Given the description of an element on the screen output the (x, y) to click on. 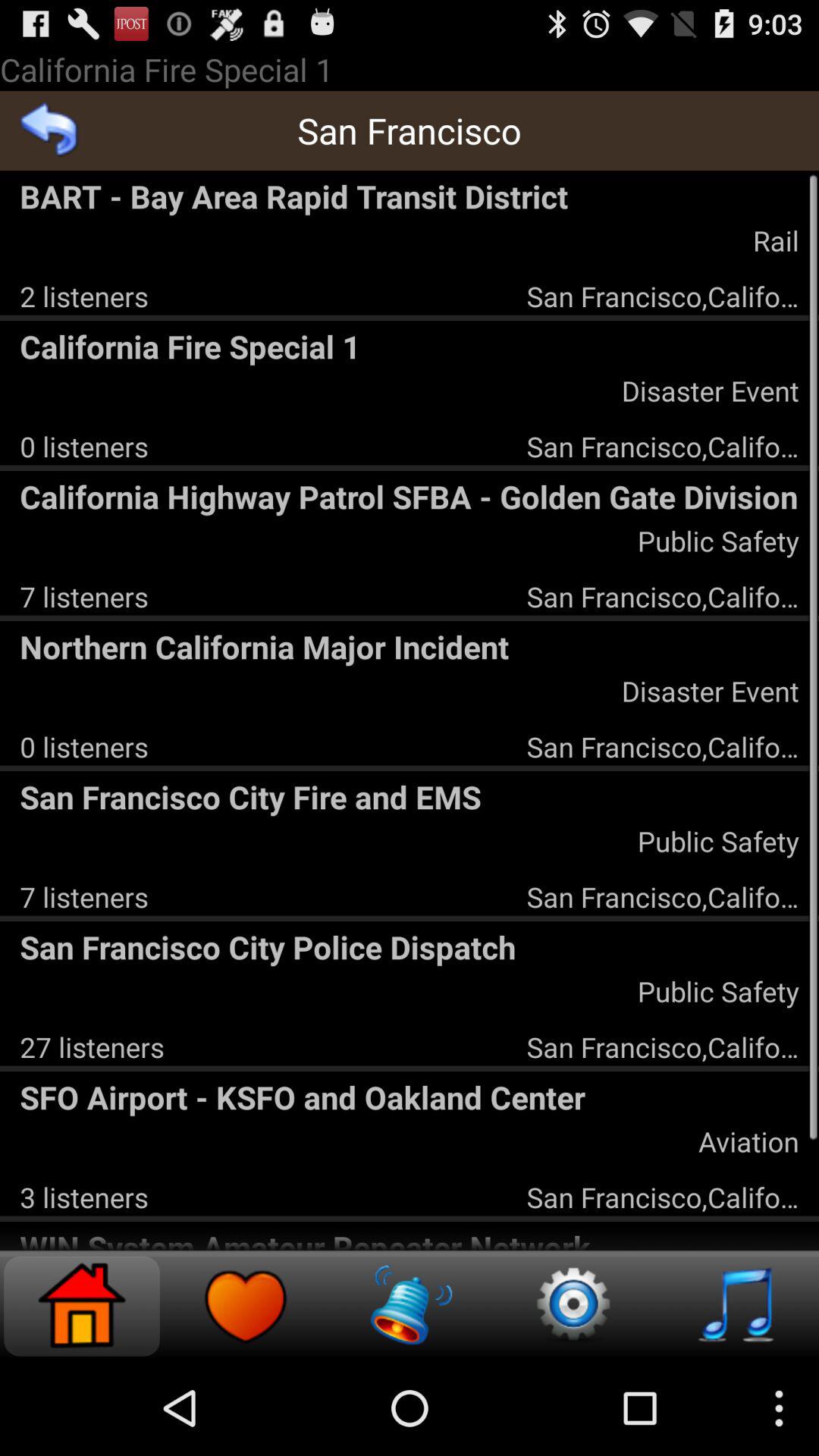
open item below the 7 listeners icon (409, 646)
